Given the description of an element on the screen output the (x, y) to click on. 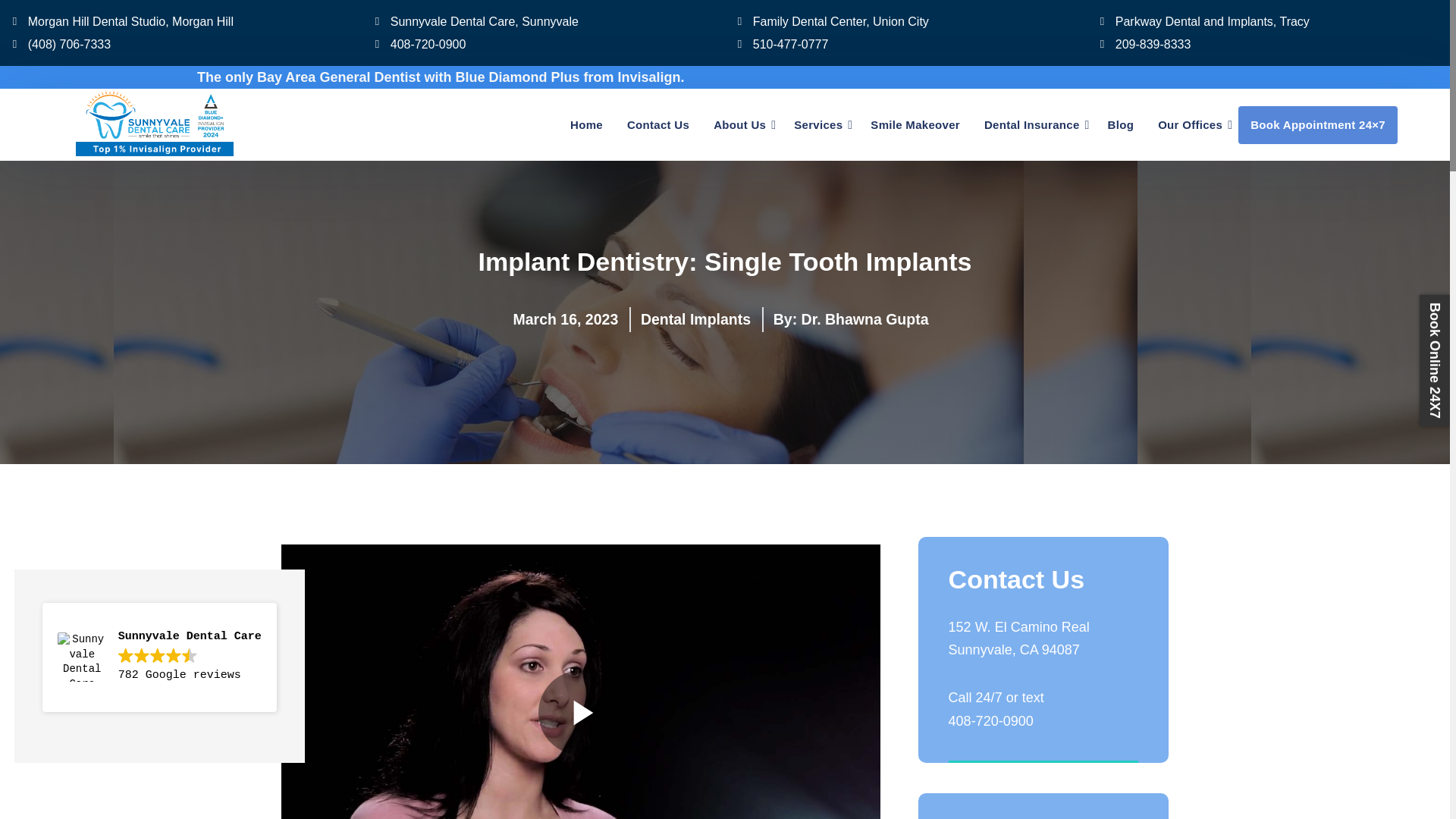
Services (817, 125)
Family Dental Center, Union City (906, 21)
About Us (739, 125)
Sunnyvale Dental Care, Sunnyvale (543, 21)
Dental Insurance (1032, 125)
Posts by Dr. Bhawna Gupta (865, 319)
Morgan Hill Dental Studio, Morgan Hill (181, 21)
408-720-0900 (543, 44)
Home (585, 125)
209-839-8333 (1268, 44)
510-477-0777 (906, 44)
Smile Makeover (915, 125)
Parkway Dental and Implants, Tracy (1268, 21)
Contact Us (657, 125)
